Given the description of an element on the screen output the (x, y) to click on. 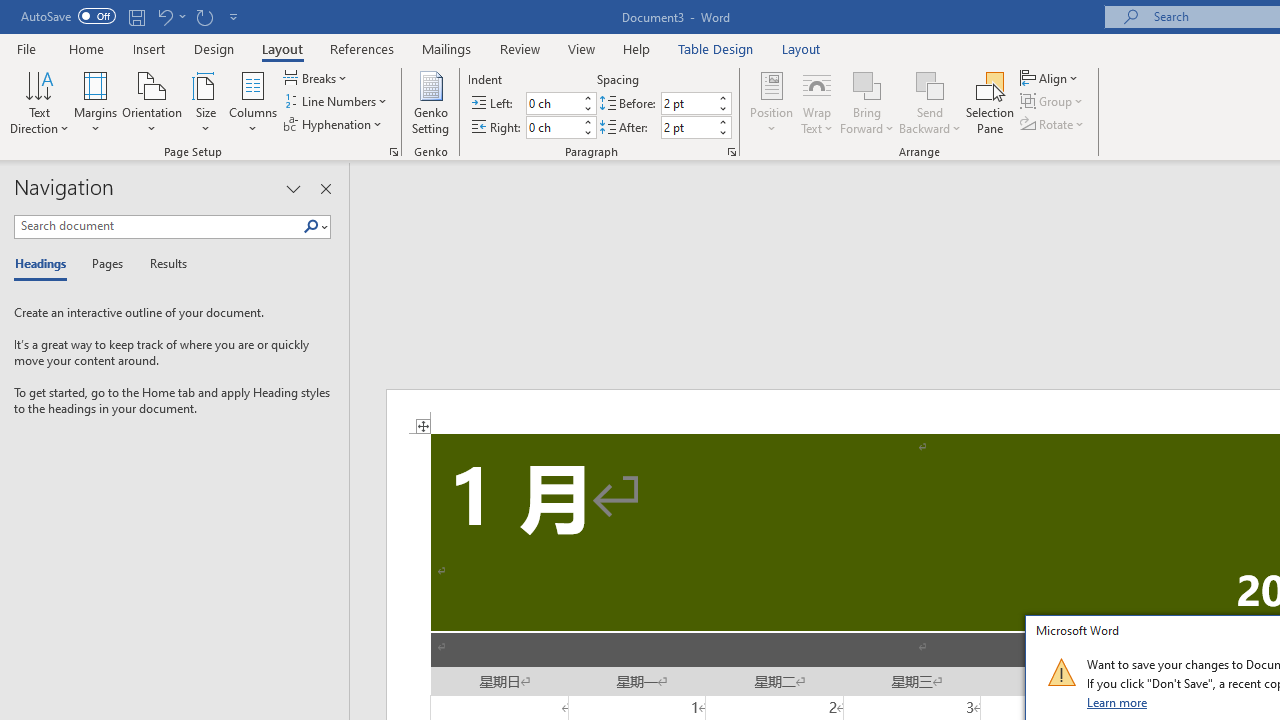
Position (771, 102)
Page Setup... (393, 151)
Close pane (325, 188)
Design (214, 48)
Hyphenation (334, 124)
Margins (95, 102)
Indent Right (552, 127)
Send Backward (930, 102)
Paragraph... (731, 151)
Less (722, 132)
Spacing Before (687, 103)
Genko Setting... (430, 102)
Send Backward (930, 84)
Bring Forward (867, 84)
Headings (45, 264)
